Given the description of an element on the screen output the (x, y) to click on. 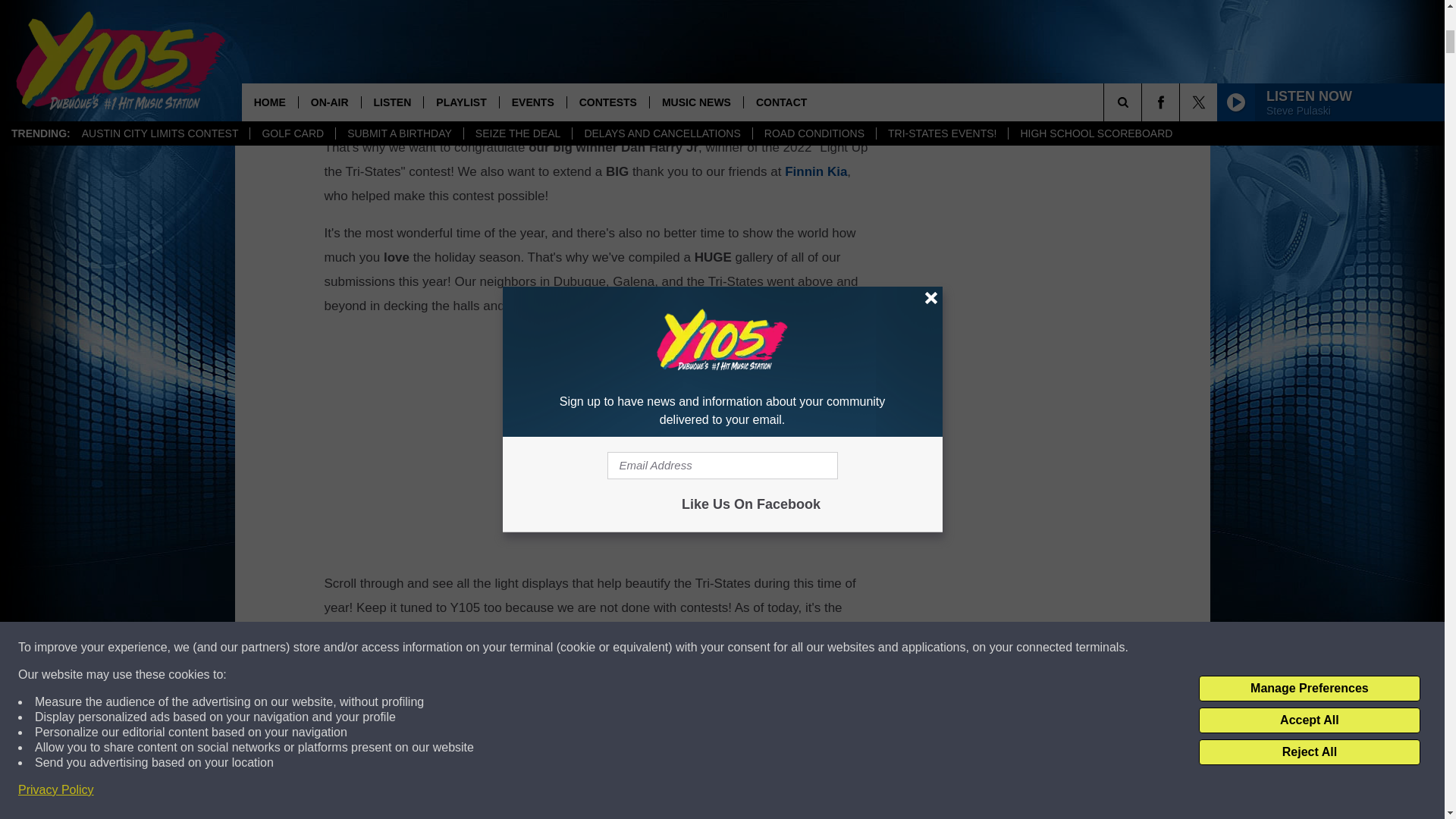
Email Address (600, 87)
